Given the description of an element on the screen output the (x, y) to click on. 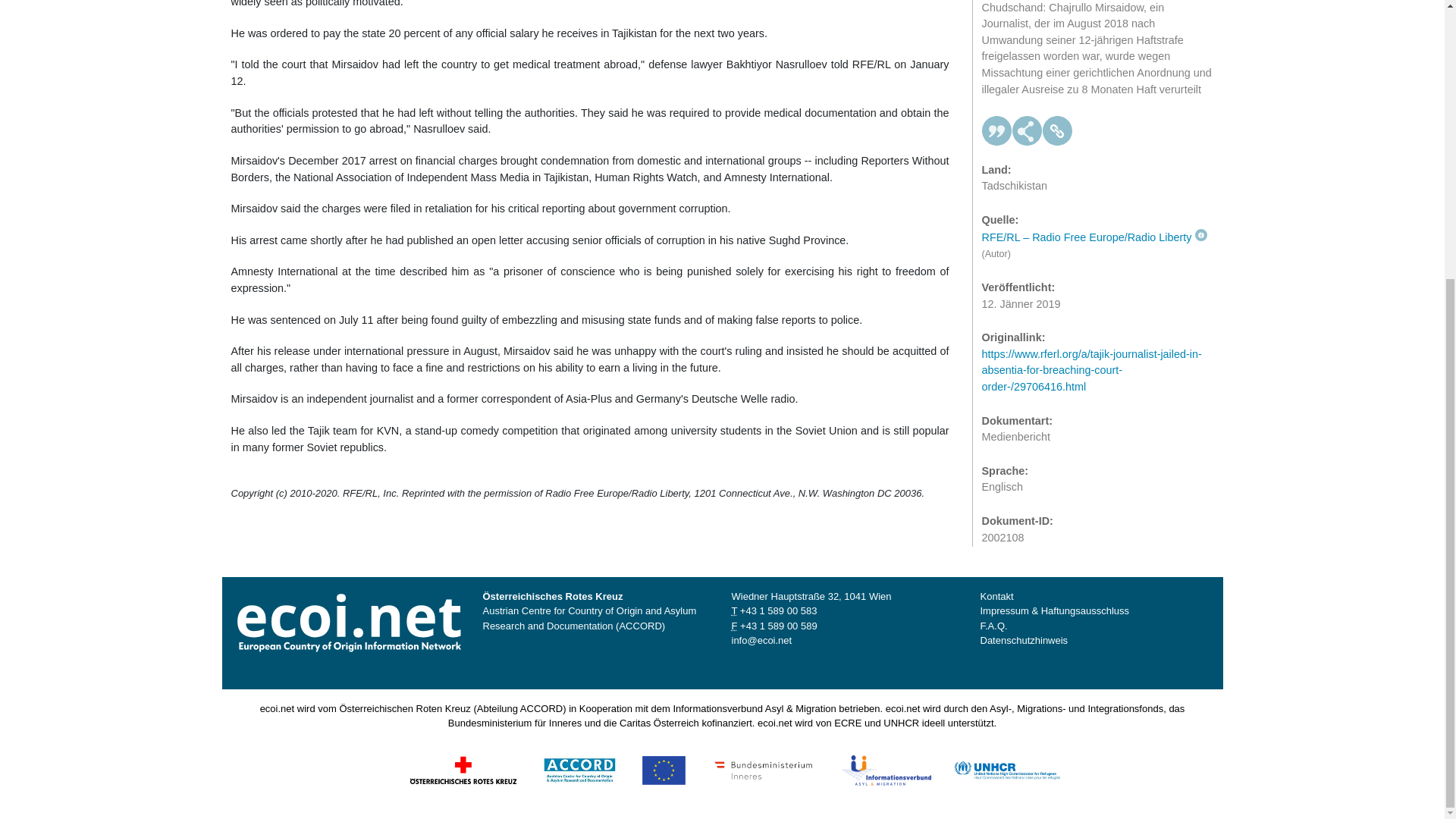
Zitieren als (996, 11)
Telefon (777, 610)
Permalink (1056, 11)
Fax (777, 625)
Kontakt (996, 595)
Teilen (1026, 11)
Datenschutzhinweis (1023, 640)
Quellenbeschreibung lesen (1094, 114)
UNHCR - The UN Refugee Agency (1006, 769)
